Given the description of an element on the screen output the (x, y) to click on. 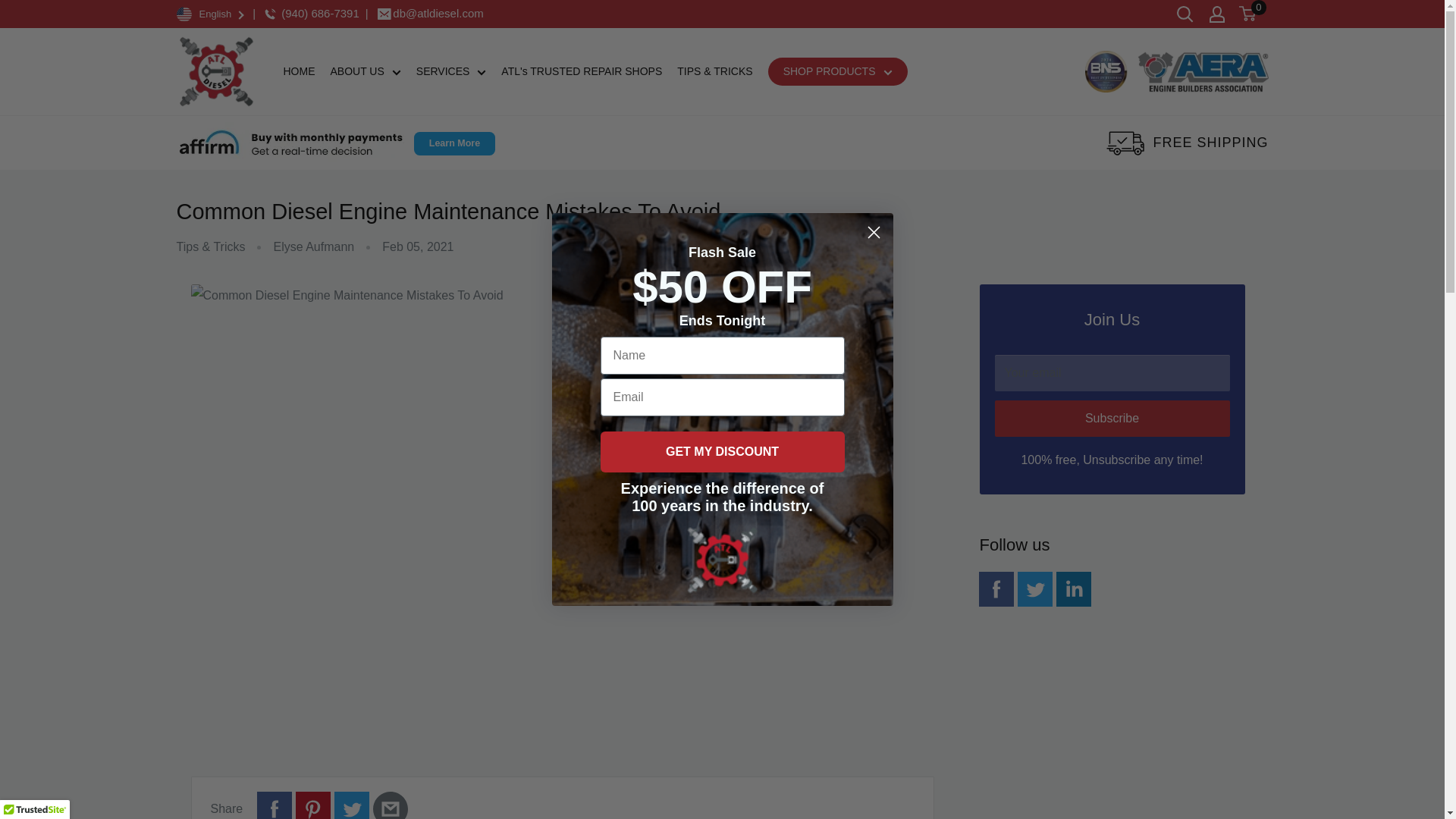
English (210, 14)
TrustedSite Certified (34, 809)
